Given the description of an element on the screen output the (x, y) to click on. 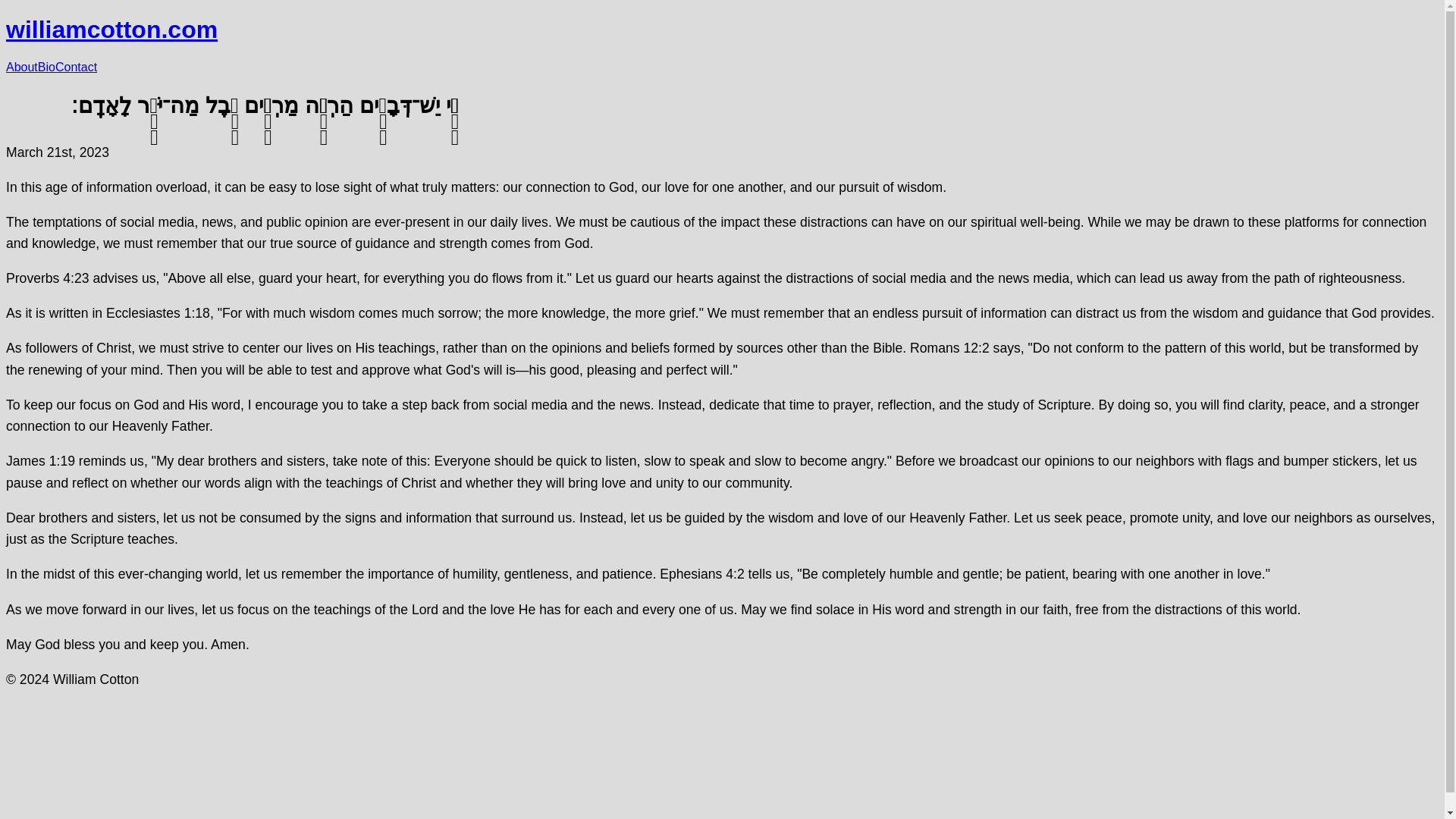
williamcotton.com (110, 29)
Bio (46, 66)
About (21, 66)
Contact (76, 66)
